Given the description of an element on the screen output the (x, y) to click on. 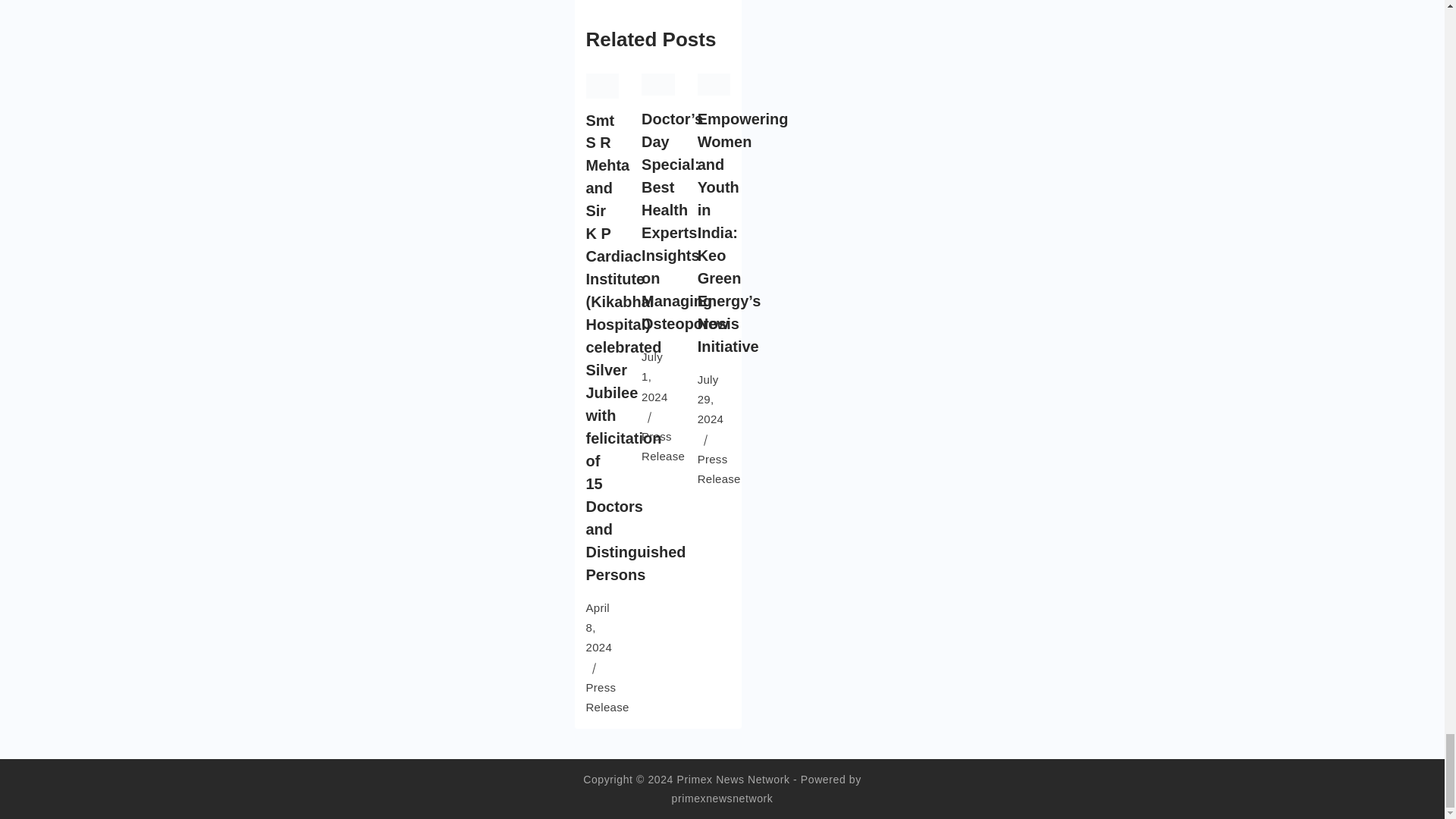
Press Release (663, 445)
Press Release (606, 696)
